Given the description of an element on the screen output the (x, y) to click on. 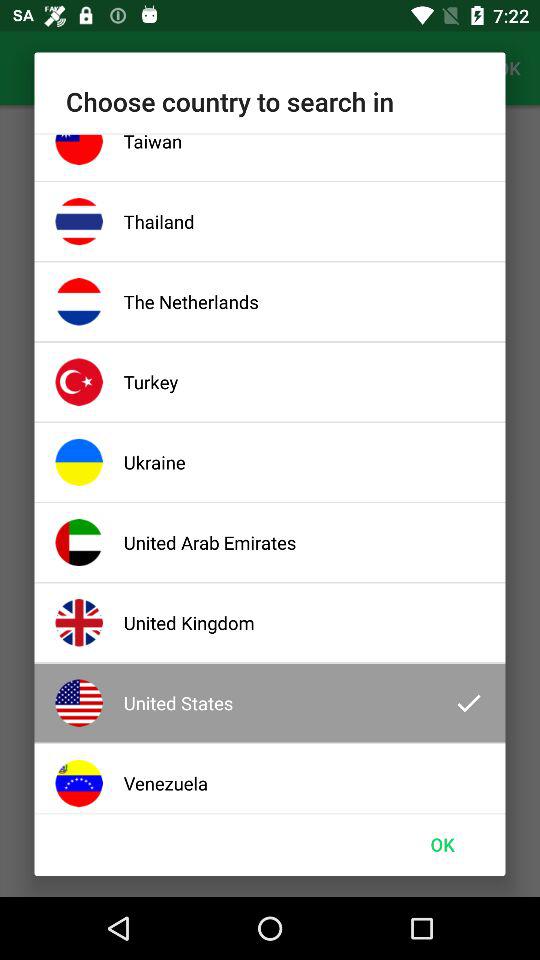
swipe until the ok (442, 844)
